Given the description of an element on the screen output the (x, y) to click on. 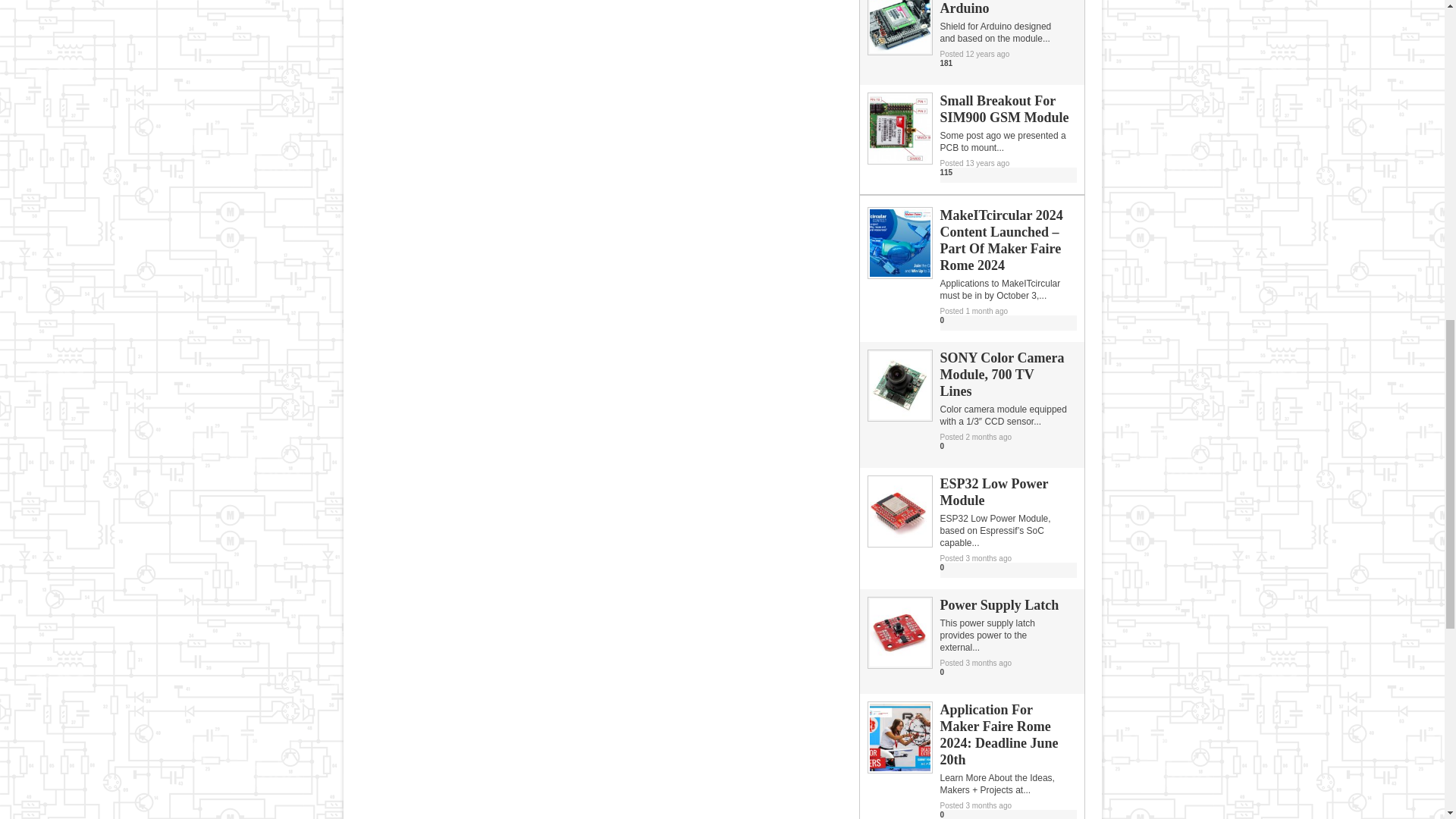
SONY color camera module, 700 TV Lines (899, 416)
Small Breakout for SIM900 GSM Module (899, 158)
GSM GPS shield for Arduino (899, 50)
